Given the description of an element on the screen output the (x, y) to click on. 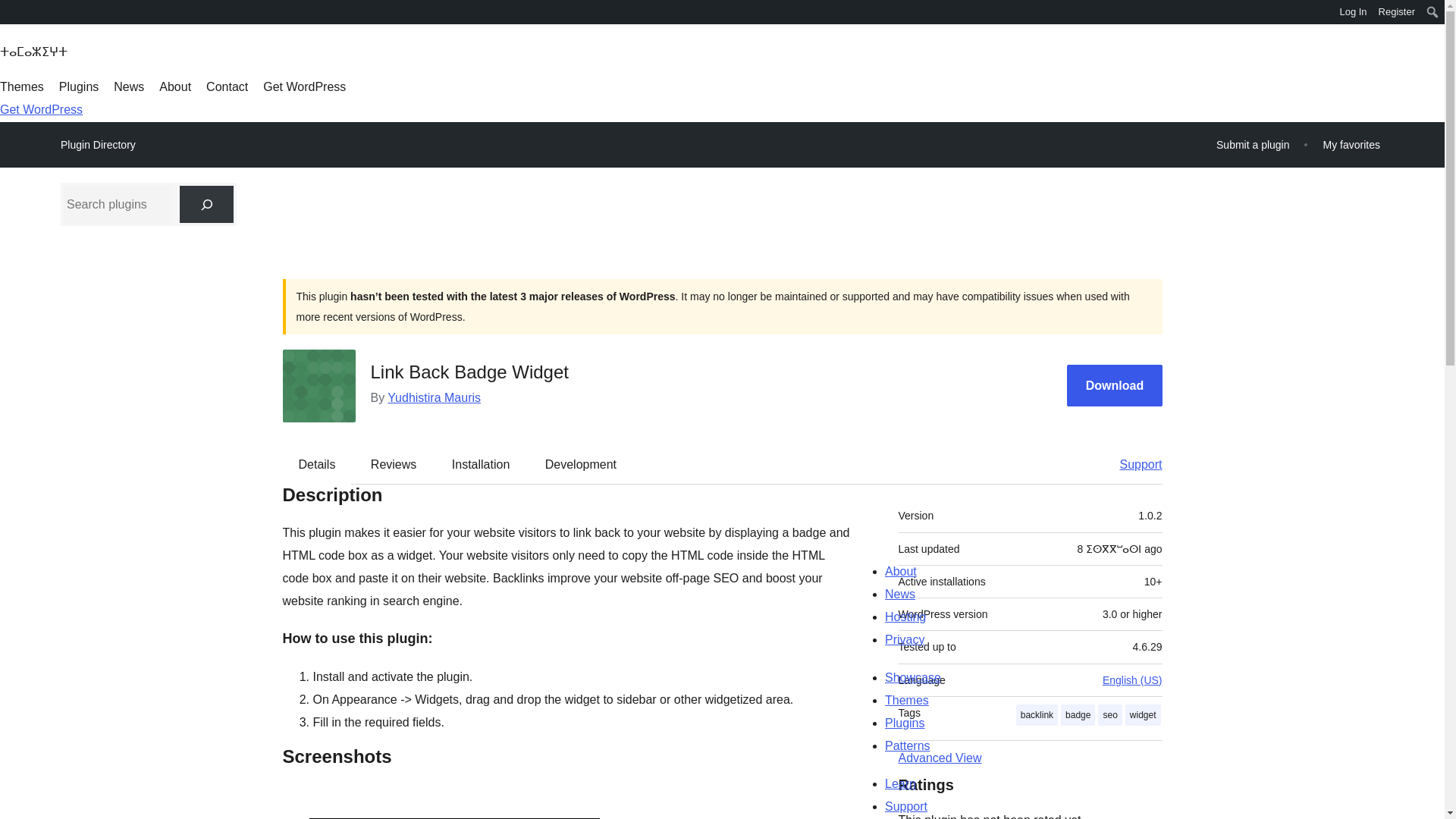
News (128, 87)
WordPress.org (10, 16)
Get WordPress (41, 109)
Support (1132, 464)
About (174, 87)
Yudhistira Mauris (433, 397)
Installation (480, 464)
Plugin Directory (97, 144)
WordPress.org (10, 10)
Contact (226, 87)
